Given the description of an element on the screen output the (x, y) to click on. 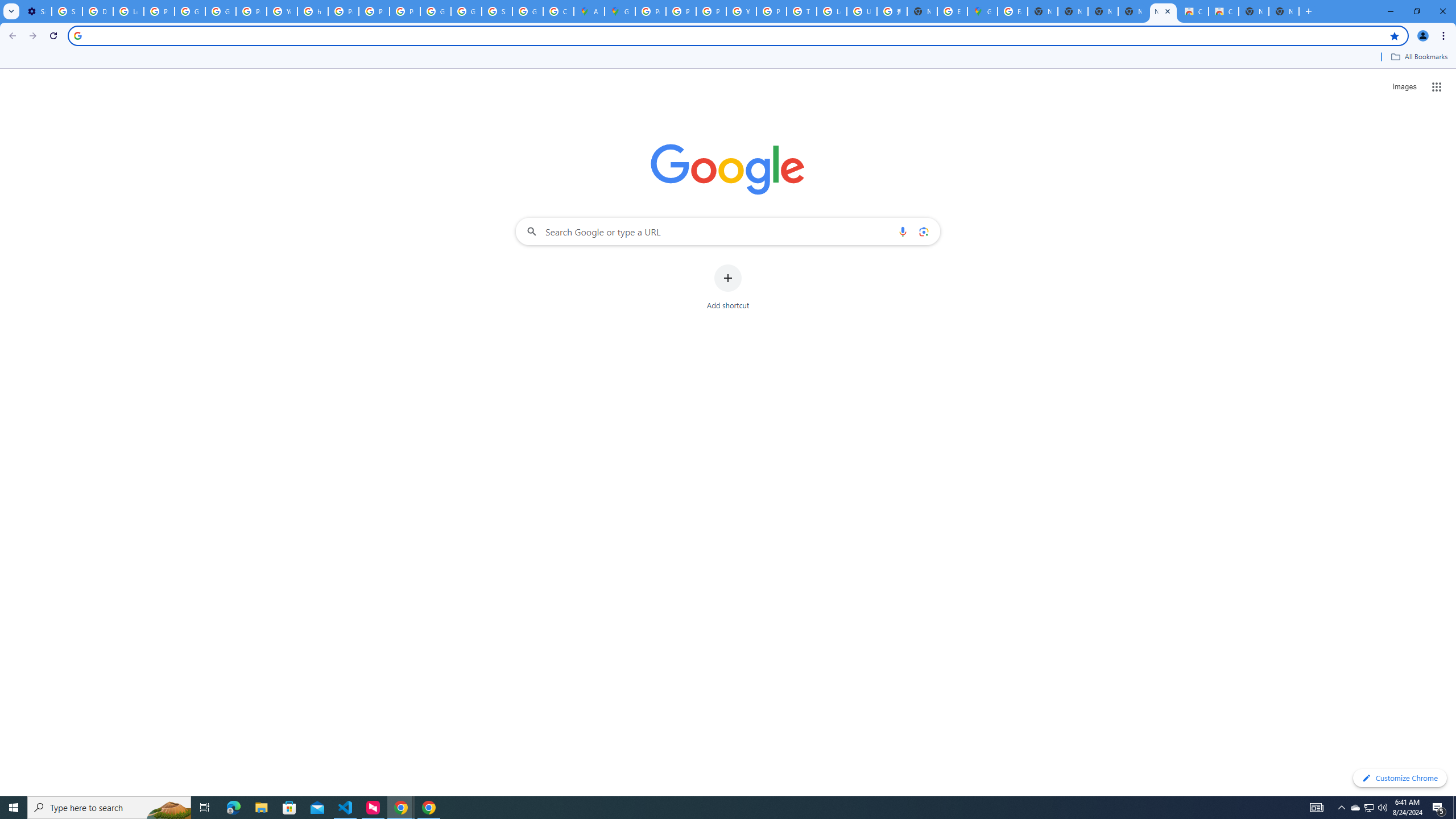
Sign in - Google Accounts (66, 11)
